Given the description of an element on the screen output the (x, y) to click on. 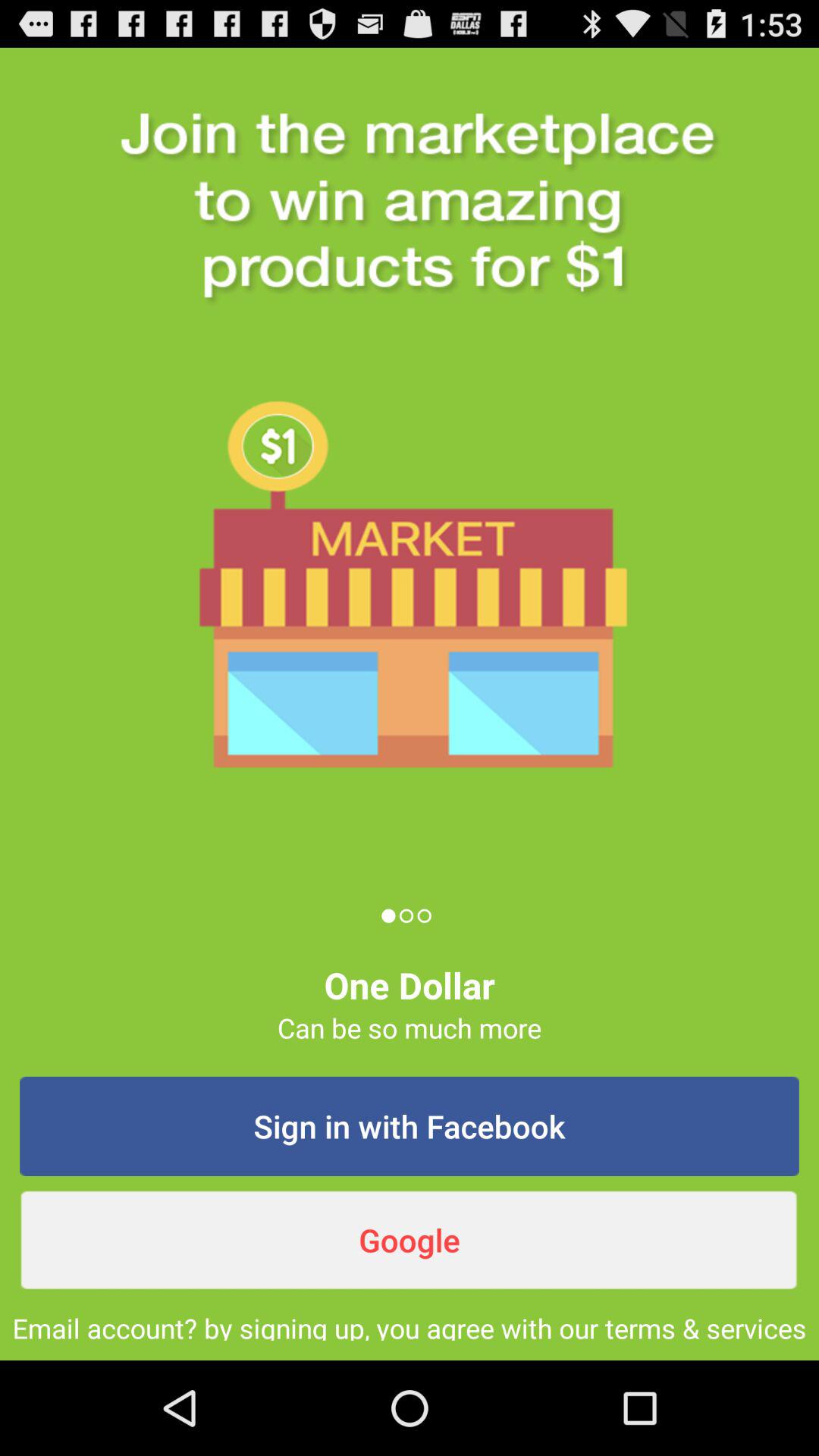
tap the item above google item (409, 1126)
